Given the description of an element on the screen output the (x, y) to click on. 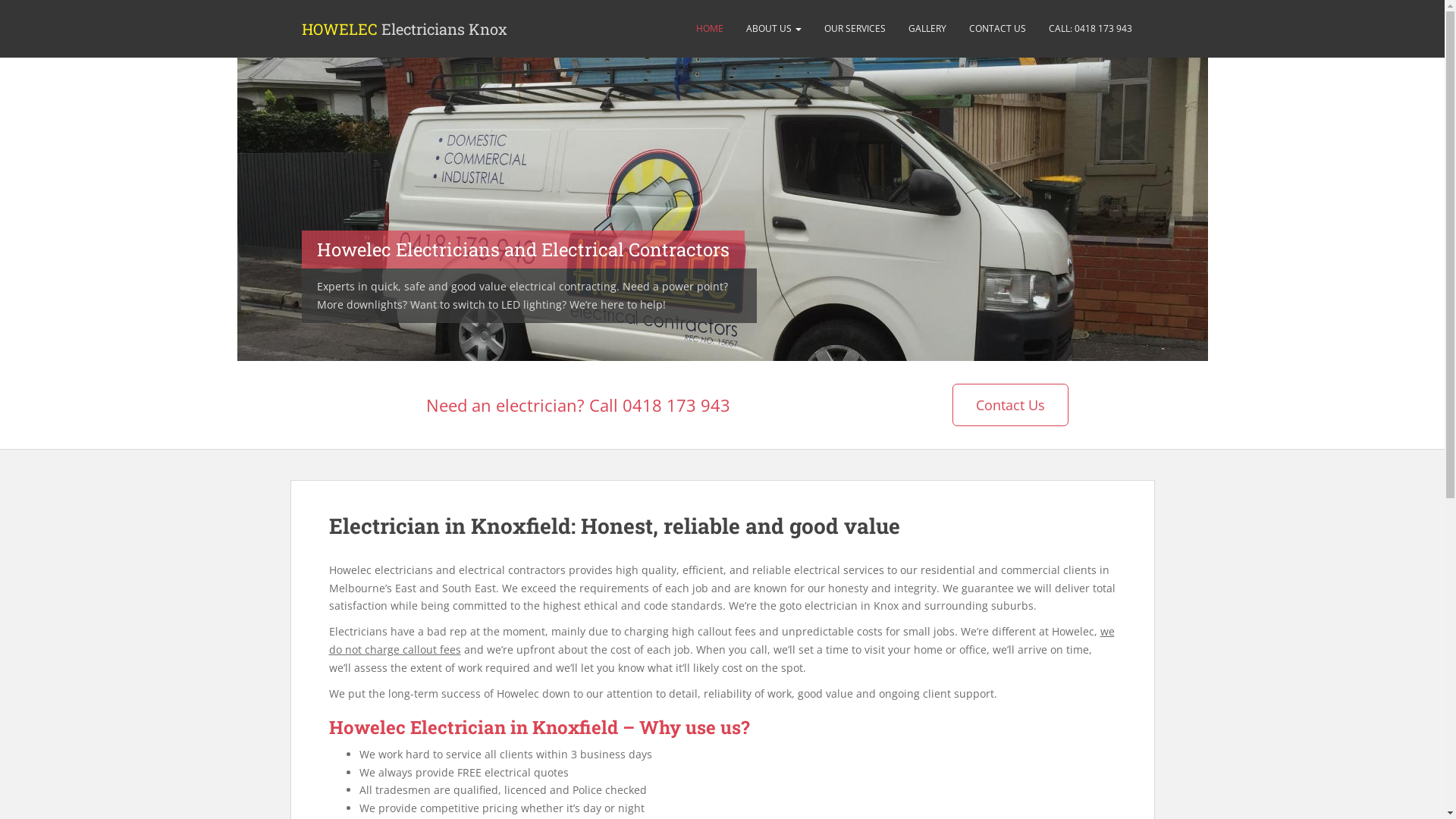
0418 173 943 Element type: text (676, 404)
HOWELEC Electricians Knox Element type: text (403, 28)
OUR SERVICES Element type: text (854, 28)
HOME Element type: text (709, 28)
GALLERY Element type: text (926, 28)
ABOUT US Element type: text (773, 28)
Contact Us Element type: text (1010, 404)
CALL: 0418 173 943 Element type: text (1090, 28)
CONTACT US Element type: text (996, 28)
